Given the description of an element on the screen output the (x, y) to click on. 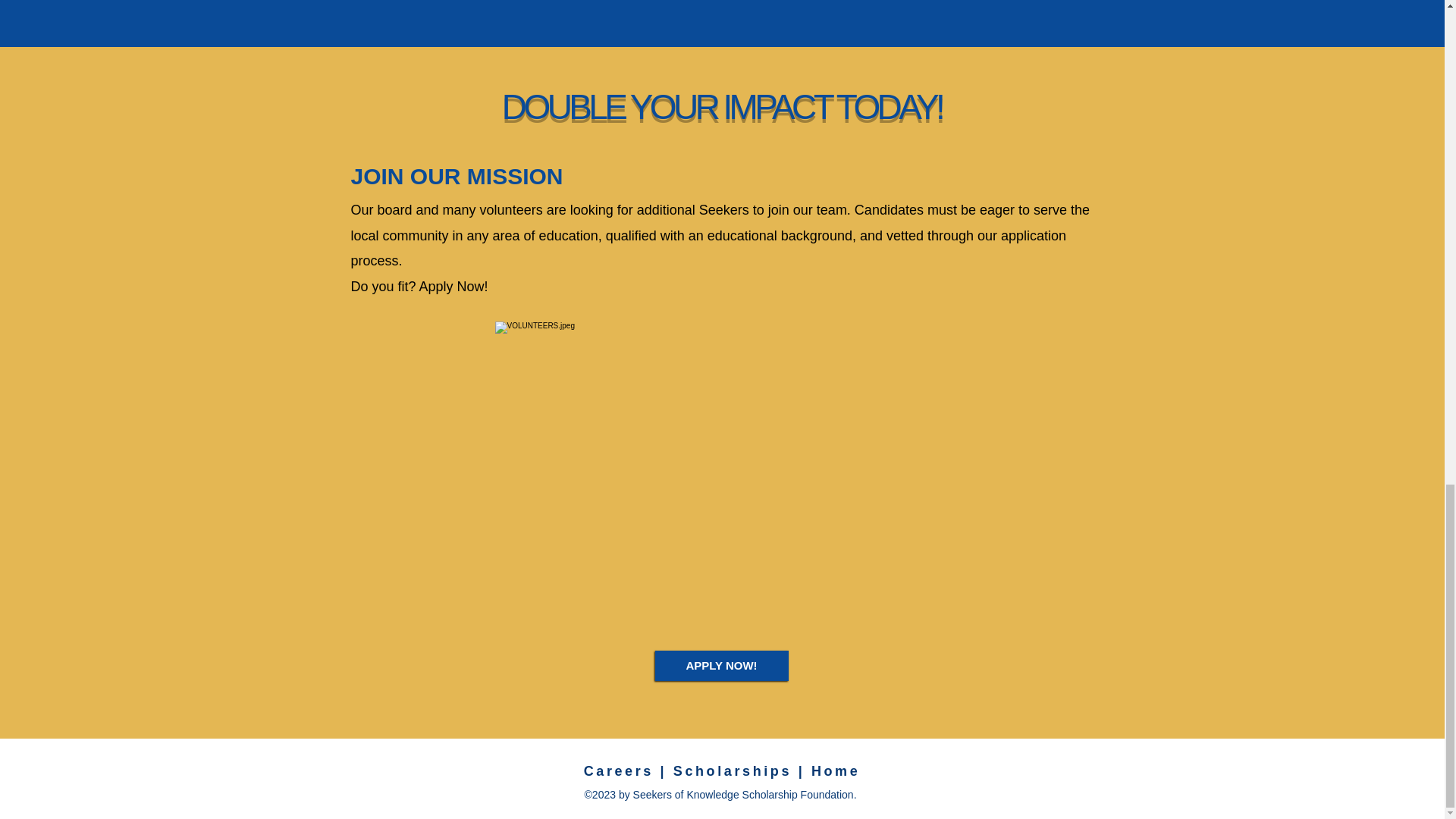
Home (835, 770)
Careers (618, 770)
Apply Now! (453, 286)
APPLY NOW! (722, 665)
Scholarships (732, 770)
